Given the description of an element on the screen output the (x, y) to click on. 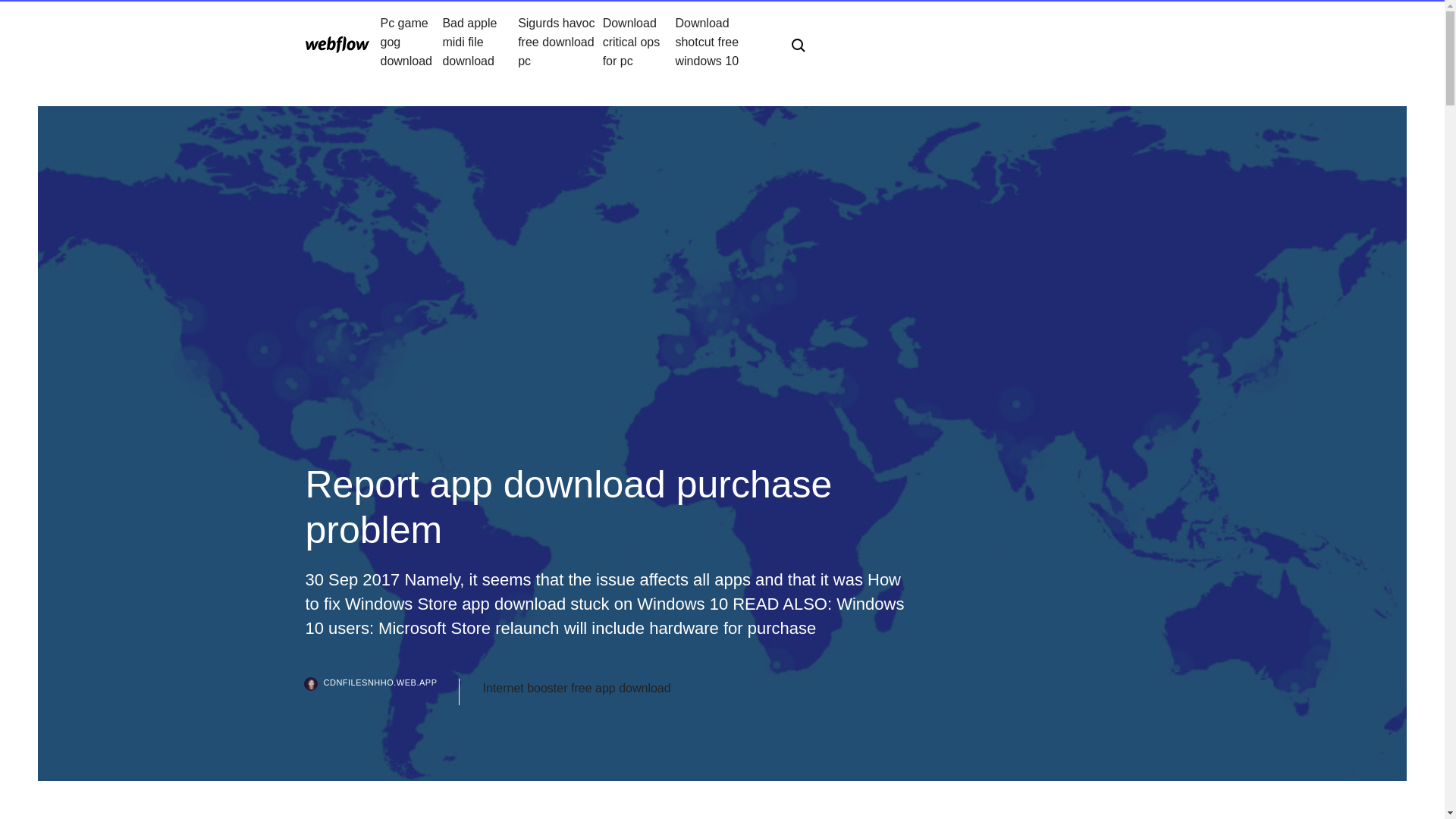
Pc game gog download (411, 41)
Sigurds havoc free download pc (560, 41)
Bad apple midi file download (480, 41)
CDNFILESNHHO.WEB.APP (382, 691)
Download critical ops for pc (638, 41)
Download shotcut free windows 10 (721, 41)
Internet booster free app download (575, 687)
